Given the description of an element on the screen output the (x, y) to click on. 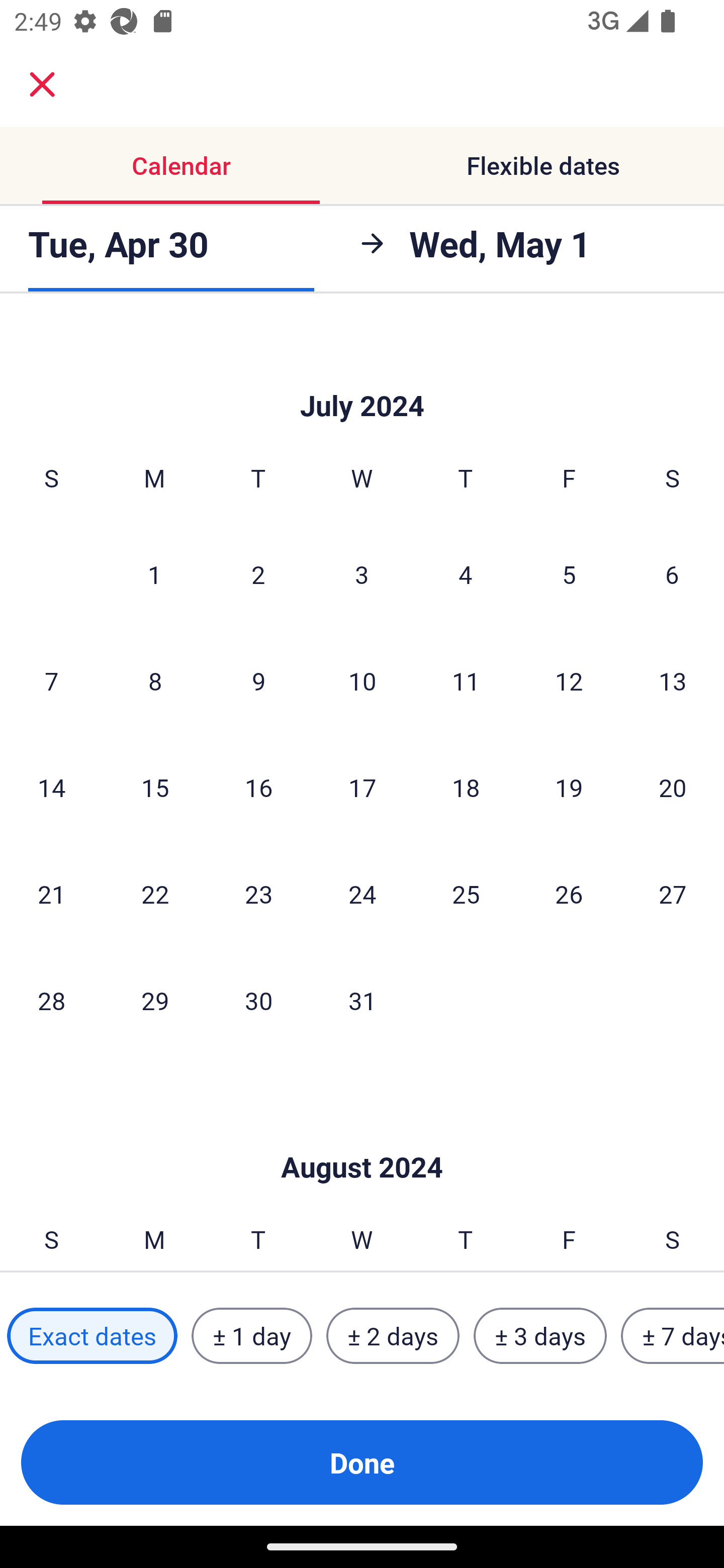
close. (42, 84)
Flexible dates (542, 164)
Skip to Done (362, 375)
1 Monday, July 1, 2024 (154, 573)
2 Tuesday, July 2, 2024 (257, 573)
3 Wednesday, July 3, 2024 (361, 573)
4 Thursday, July 4, 2024 (465, 573)
5 Friday, July 5, 2024 (568, 573)
6 Saturday, July 6, 2024 (672, 573)
7 Sunday, July 7, 2024 (51, 680)
8 Monday, July 8, 2024 (155, 680)
9 Tuesday, July 9, 2024 (258, 680)
10 Wednesday, July 10, 2024 (362, 680)
11 Thursday, July 11, 2024 (465, 680)
12 Friday, July 12, 2024 (569, 680)
13 Saturday, July 13, 2024 (672, 680)
14 Sunday, July 14, 2024 (51, 786)
15 Monday, July 15, 2024 (155, 786)
16 Tuesday, July 16, 2024 (258, 786)
17 Wednesday, July 17, 2024 (362, 786)
18 Thursday, July 18, 2024 (465, 786)
19 Friday, July 19, 2024 (569, 786)
20 Saturday, July 20, 2024 (672, 786)
21 Sunday, July 21, 2024 (51, 893)
22 Monday, July 22, 2024 (155, 893)
23 Tuesday, July 23, 2024 (258, 893)
24 Wednesday, July 24, 2024 (362, 893)
25 Thursday, July 25, 2024 (465, 893)
26 Friday, July 26, 2024 (569, 893)
27 Saturday, July 27, 2024 (672, 893)
28 Sunday, July 28, 2024 (51, 1000)
29 Monday, July 29, 2024 (155, 1000)
30 Tuesday, July 30, 2024 (258, 1000)
31 Wednesday, July 31, 2024 (362, 1000)
Skip to Done (362, 1136)
Exact dates (92, 1335)
± 1 day (251, 1335)
± 2 days (392, 1335)
± 3 days (539, 1335)
± 7 days (672, 1335)
Done (361, 1462)
